Given the description of an element on the screen output the (x, y) to click on. 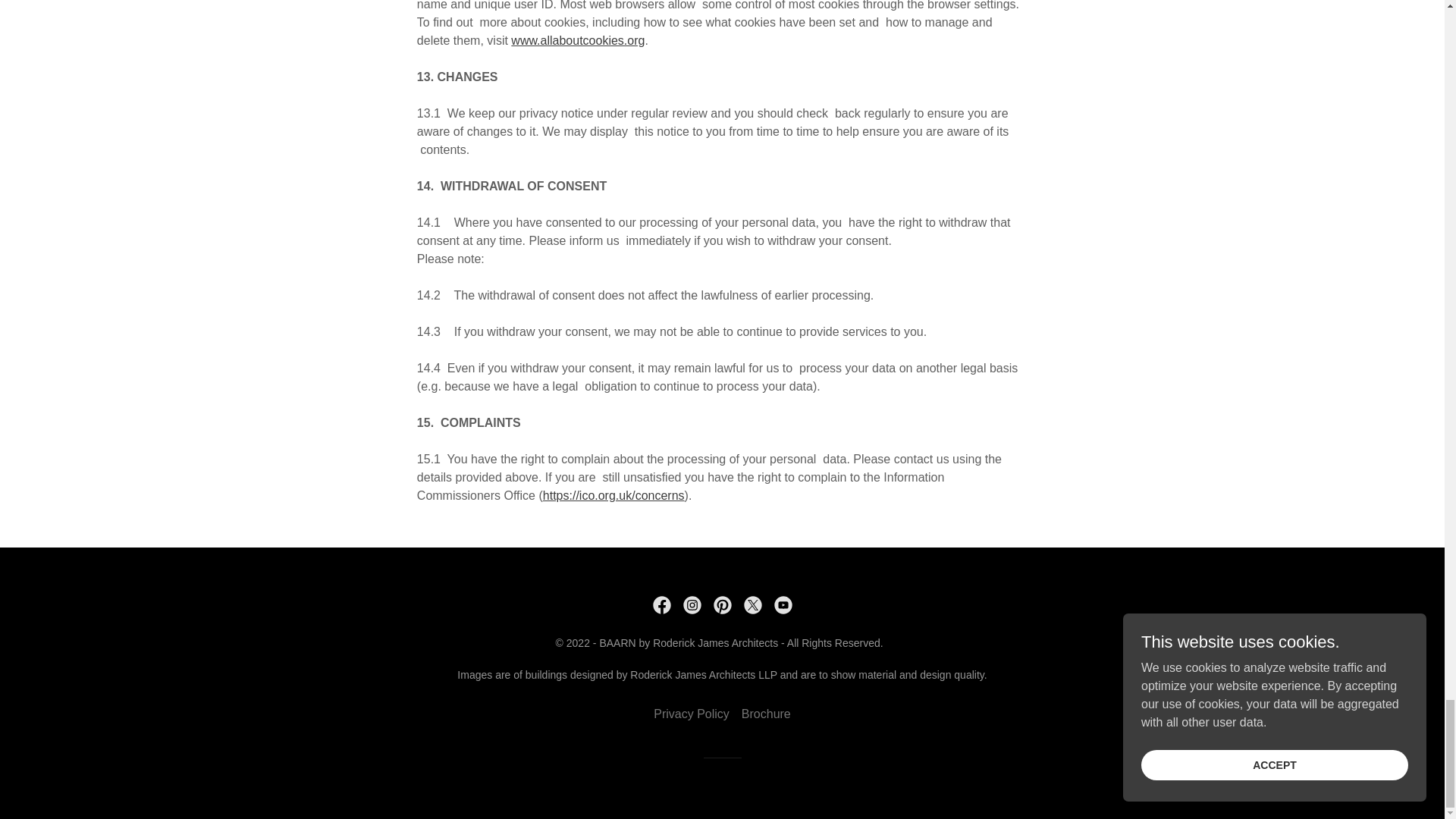
www.allaboutcookies.org (578, 40)
